Given the description of an element on the screen output the (x, y) to click on. 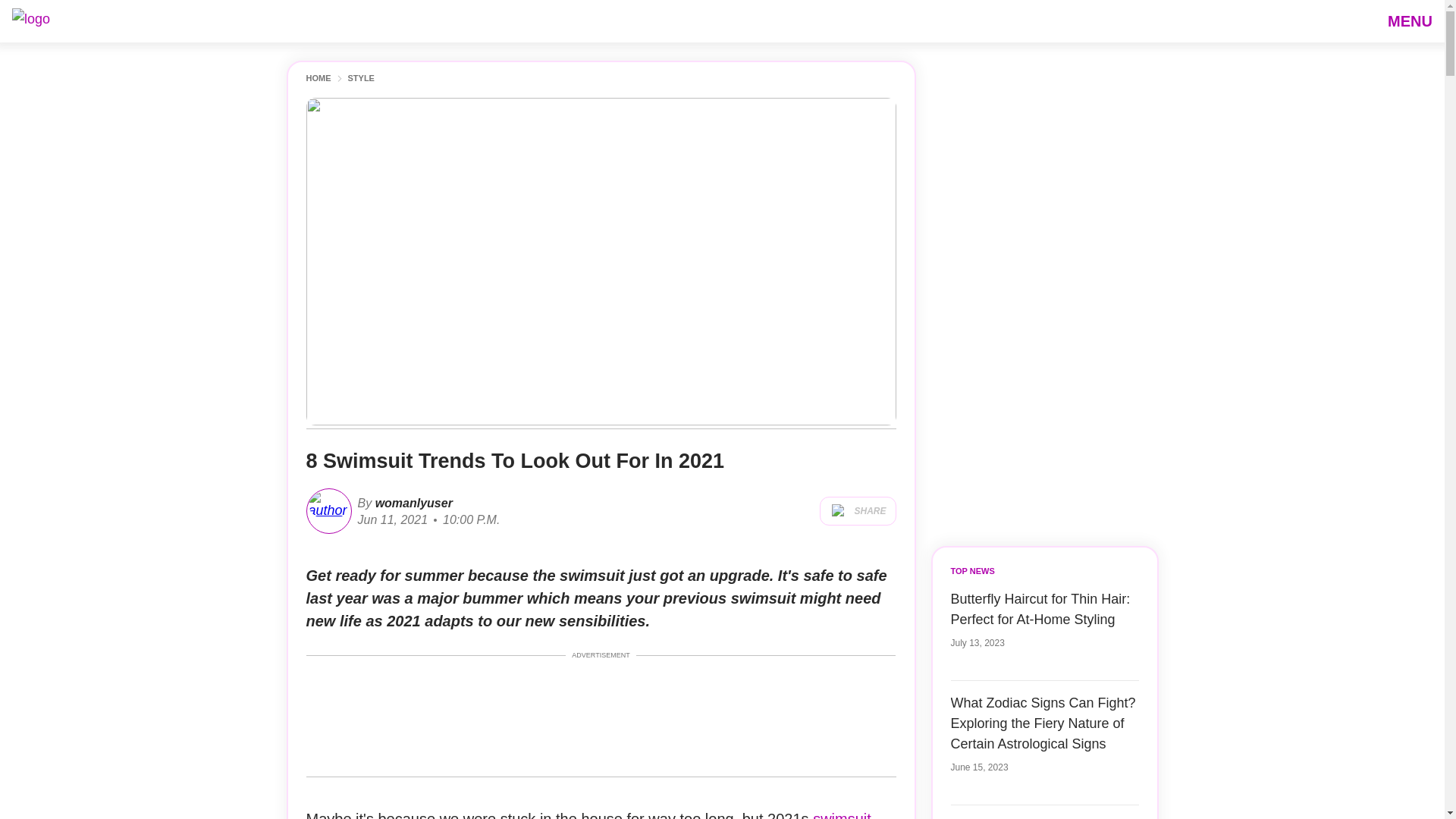
HOME (318, 78)
STYLE (360, 78)
womanlyuser (411, 502)
swimsuit offerings (587, 814)
SHARE (857, 510)
MENU (1409, 20)
